Given the description of an element on the screen output the (x, y) to click on. 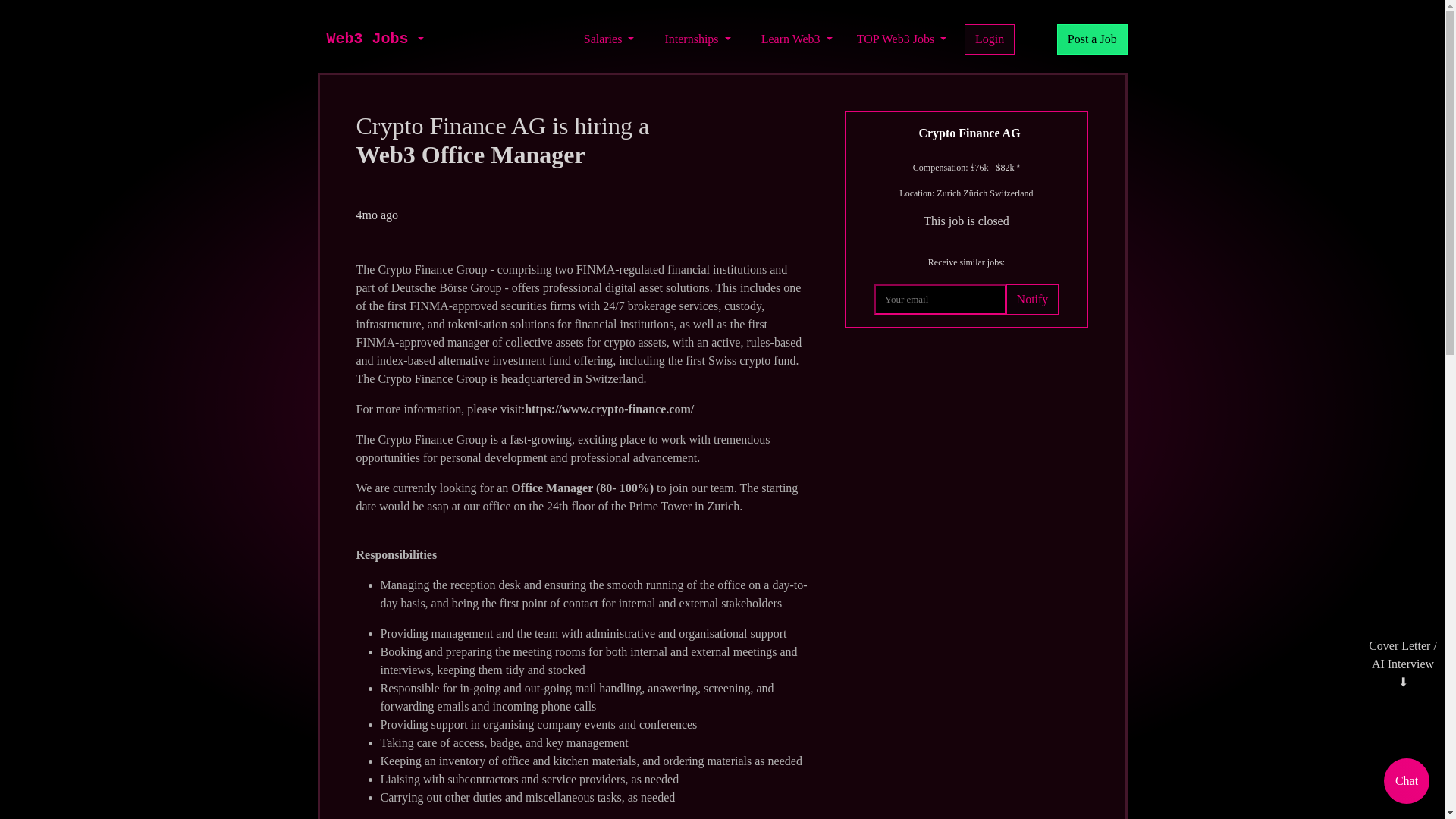
Learn Web3 (796, 39)
Salaries (609, 39)
Estimated compensation based on similar jobs (966, 167)
Notify (1032, 299)
Web3 Jobs (366, 39)
Internships (697, 39)
